Given the description of an element on the screen output the (x, y) to click on. 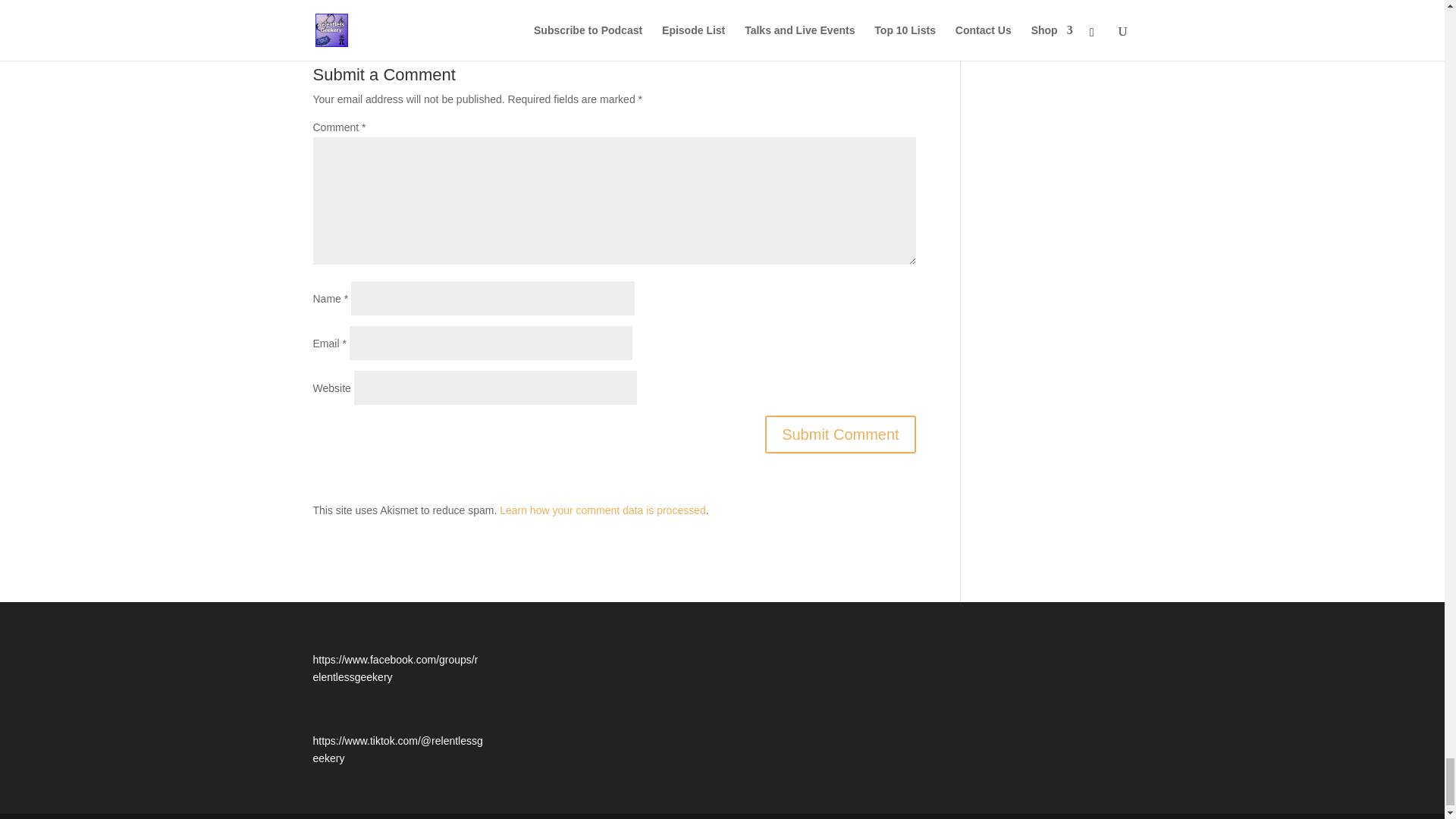
Submit Comment (840, 434)
Learn how your comment data is processed (602, 510)
Submit Comment (840, 434)
